Given the description of an element on the screen output the (x, y) to click on. 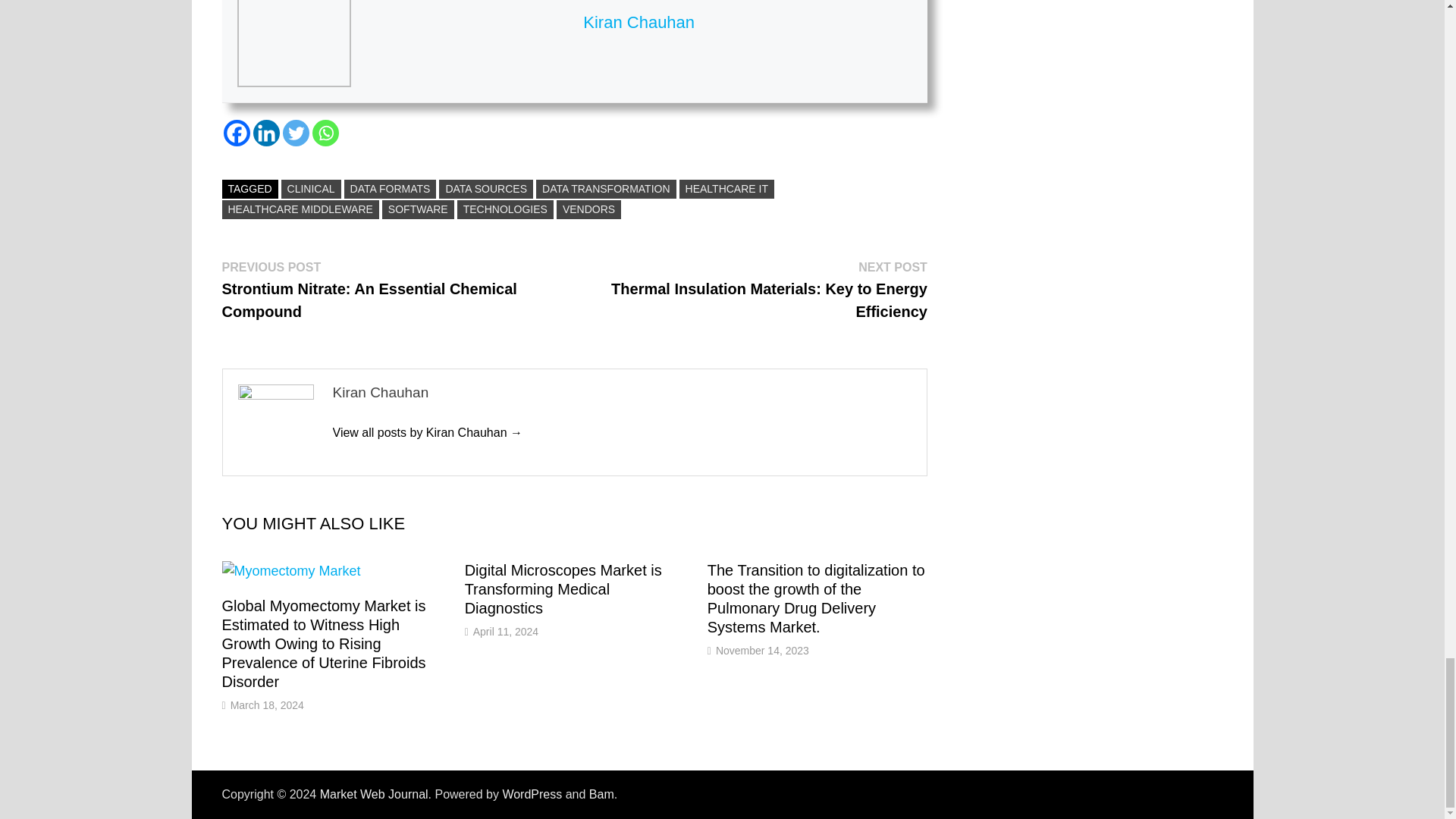
Whatsapp (326, 132)
Twitter (295, 132)
Linkedin (266, 132)
Facebook (235, 132)
Kiran Chauhan (426, 431)
Market Web Journal (374, 793)
